Given the description of an element on the screen output the (x, y) to click on. 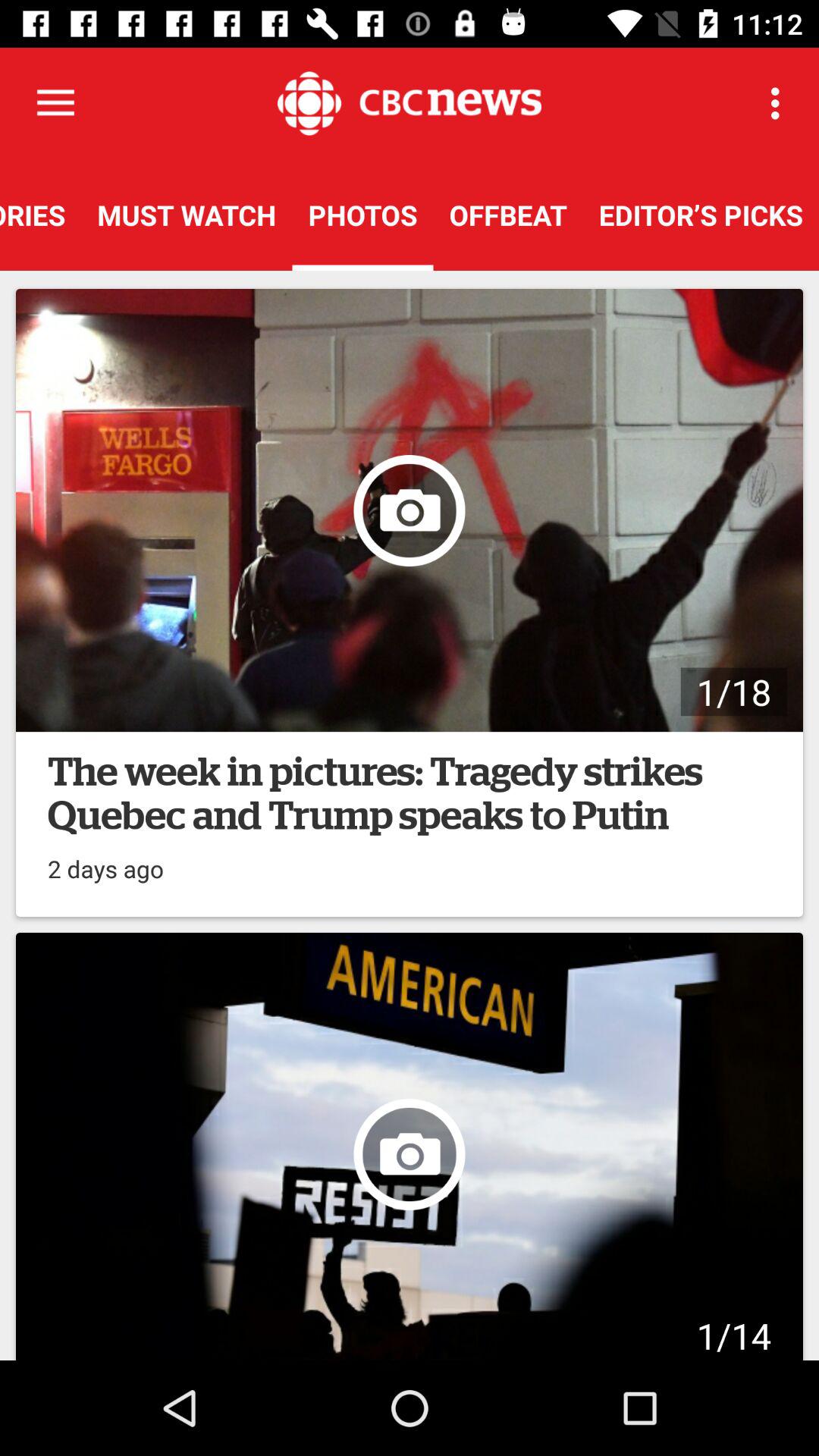
scroll to offbeat (507, 214)
